Given the description of an element on the screen output the (x, y) to click on. 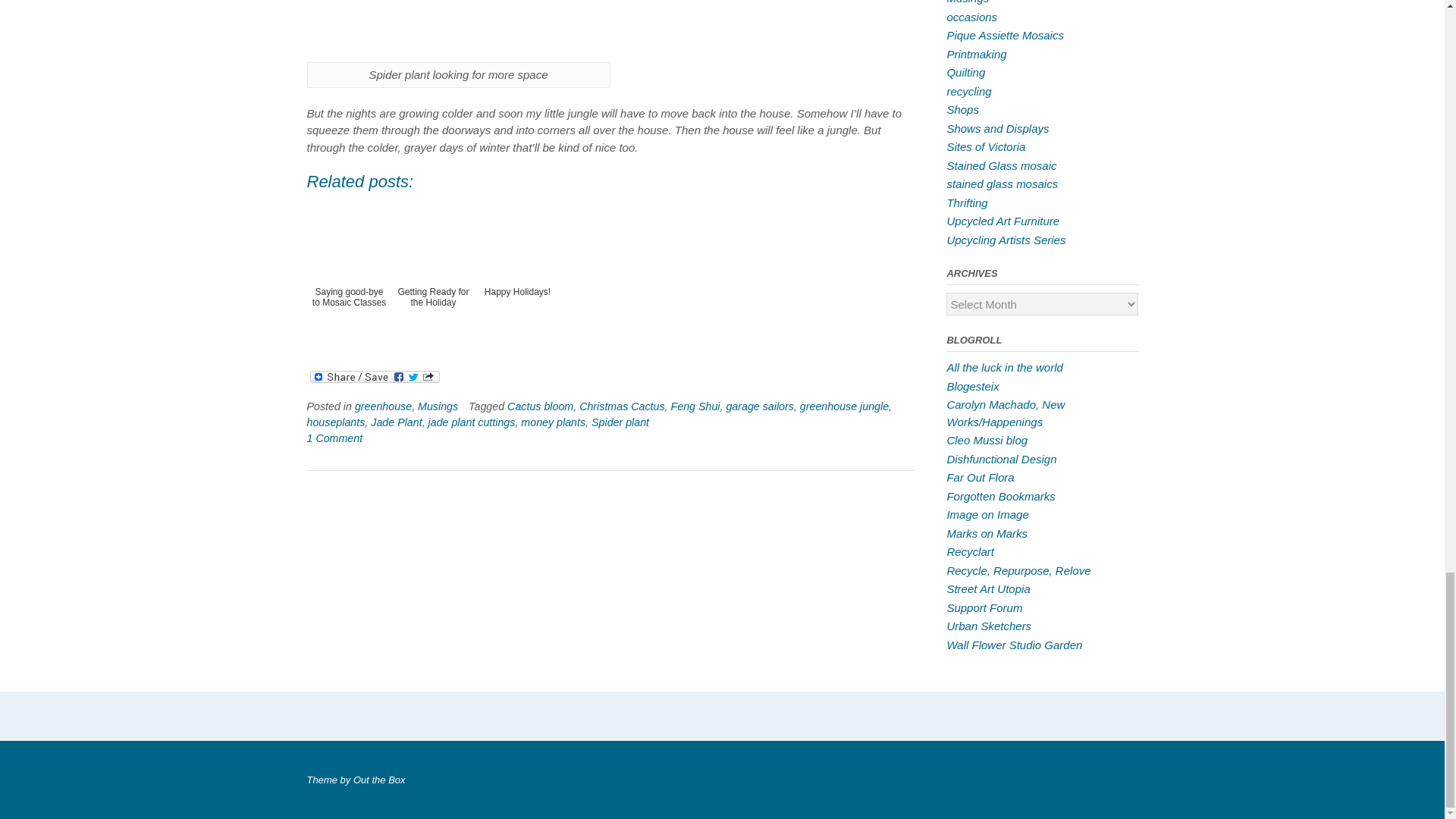
Musings (437, 406)
1 Comment (333, 438)
Spider Plant (457, 31)
Jade Plant (396, 422)
jade plant cuttings (471, 422)
Feng Shui (695, 406)
money plants (553, 422)
greenhouse (383, 406)
upcycled chandeliers and other great stuff (972, 386)
